Given the description of an element on the screen output the (x, y) to click on. 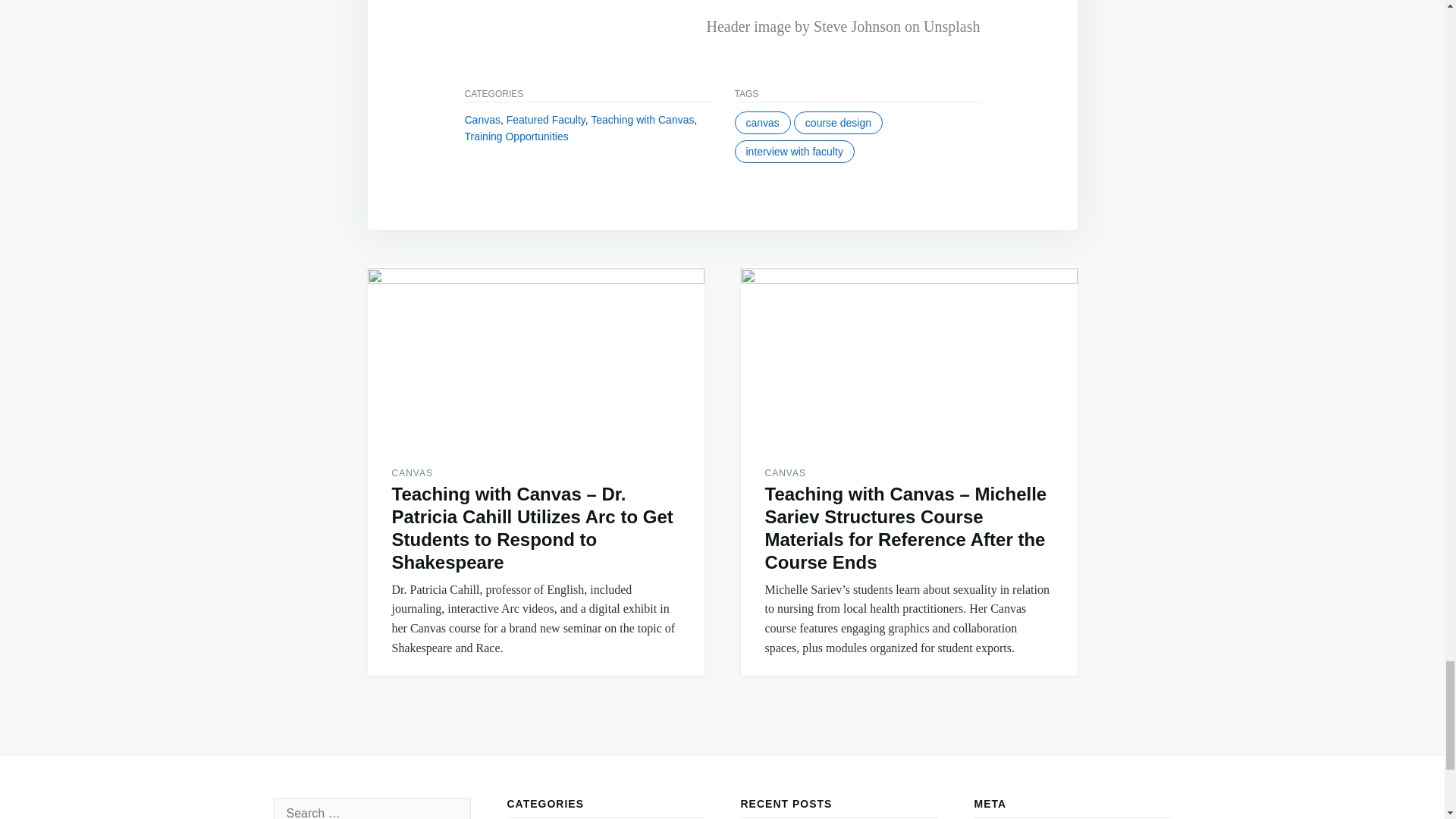
canvas (761, 122)
Canvas (481, 119)
CANVAS (411, 472)
Training Opportunities (515, 136)
CANVAS (784, 472)
course design (837, 122)
Teaching with Canvas (642, 119)
Steve Johnson (857, 26)
Featured Faculty (545, 119)
Unsplash (951, 26)
interview with faculty (793, 151)
